Given the description of an element on the screen output the (x, y) to click on. 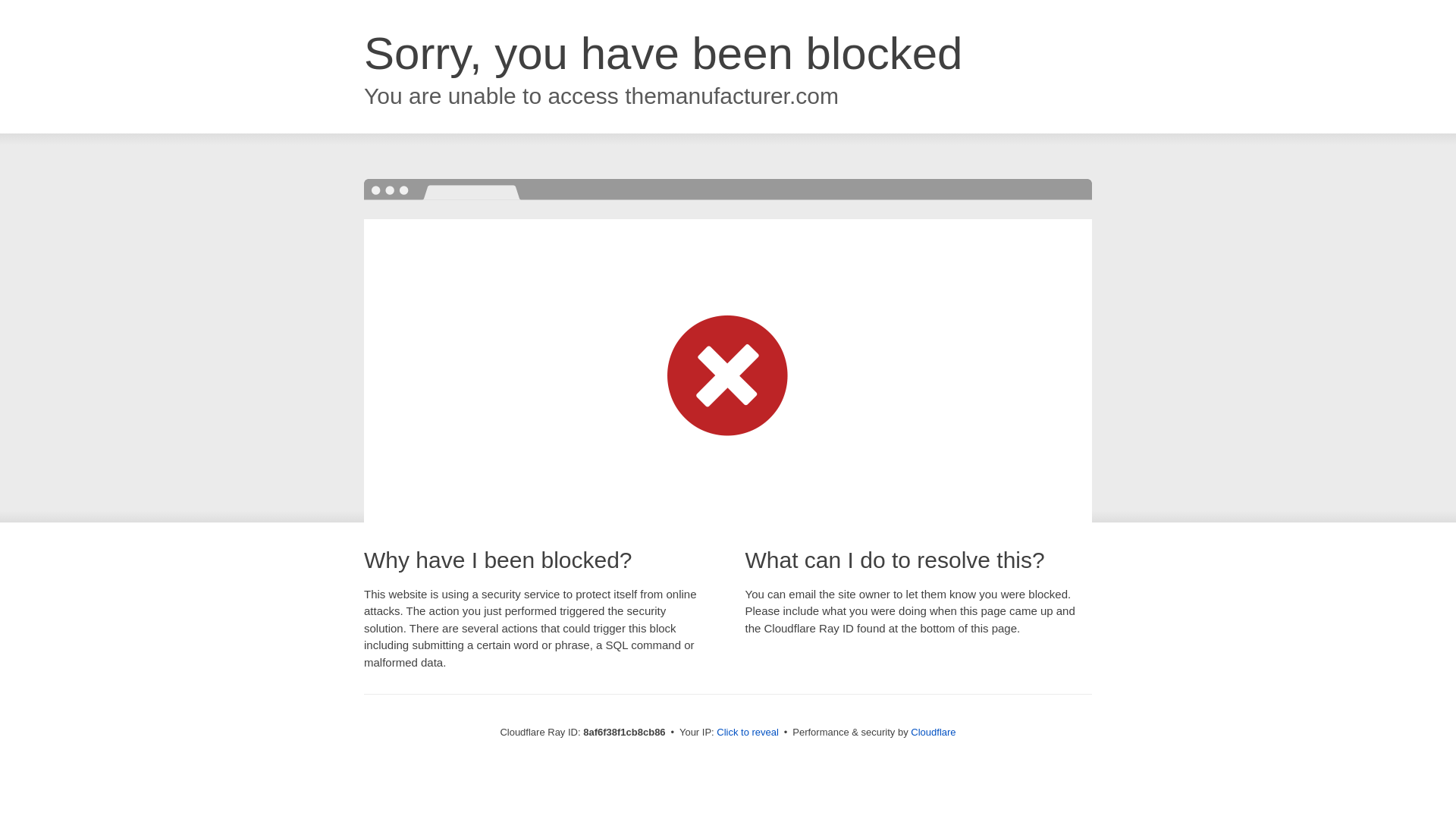
Cloudflare (933, 731)
Click to reveal (747, 732)
